Given the description of an element on the screen output the (x, y) to click on. 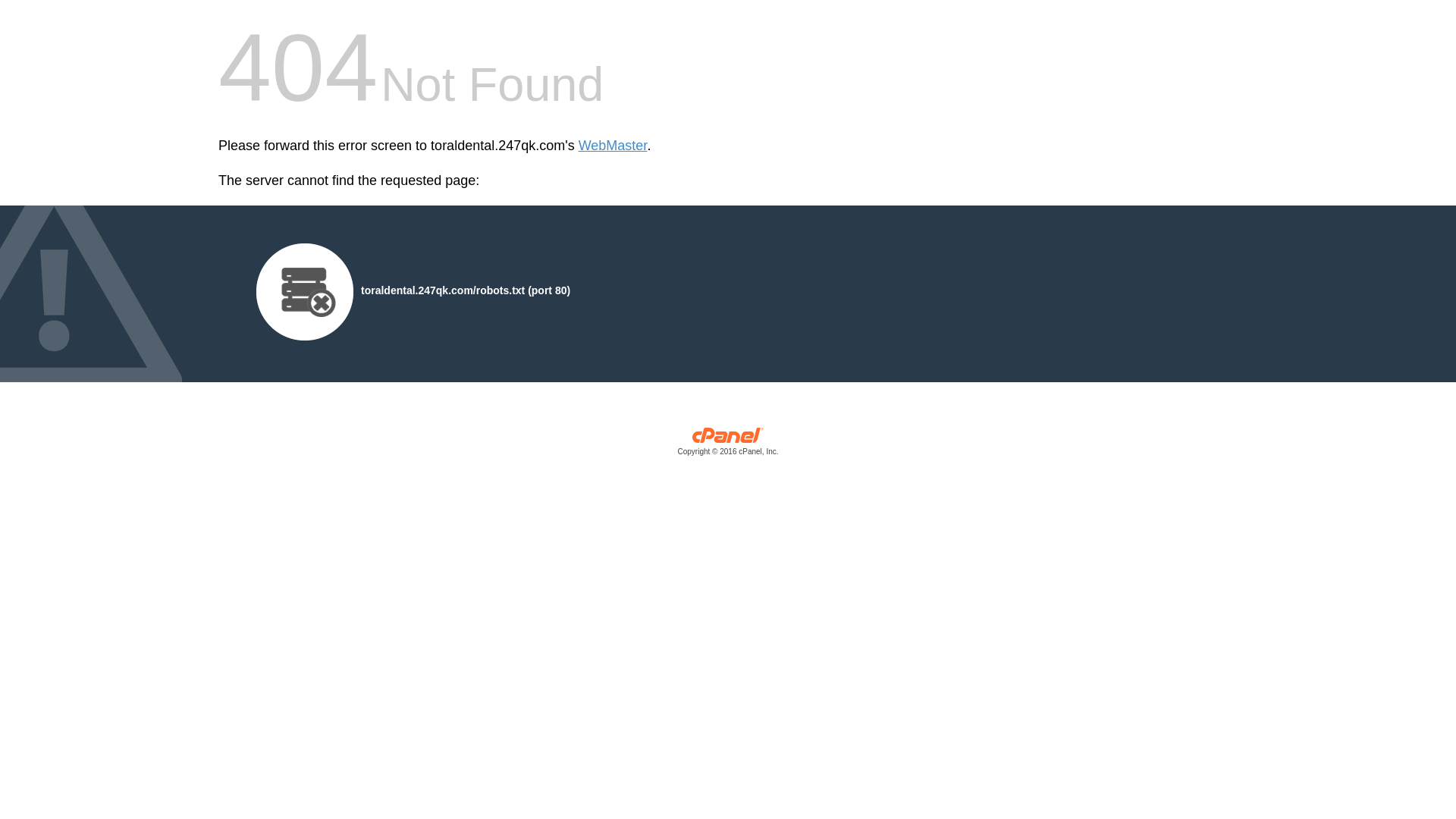
WebMaster Element type: text (612, 145)
